Given the description of an element on the screen output the (x, y) to click on. 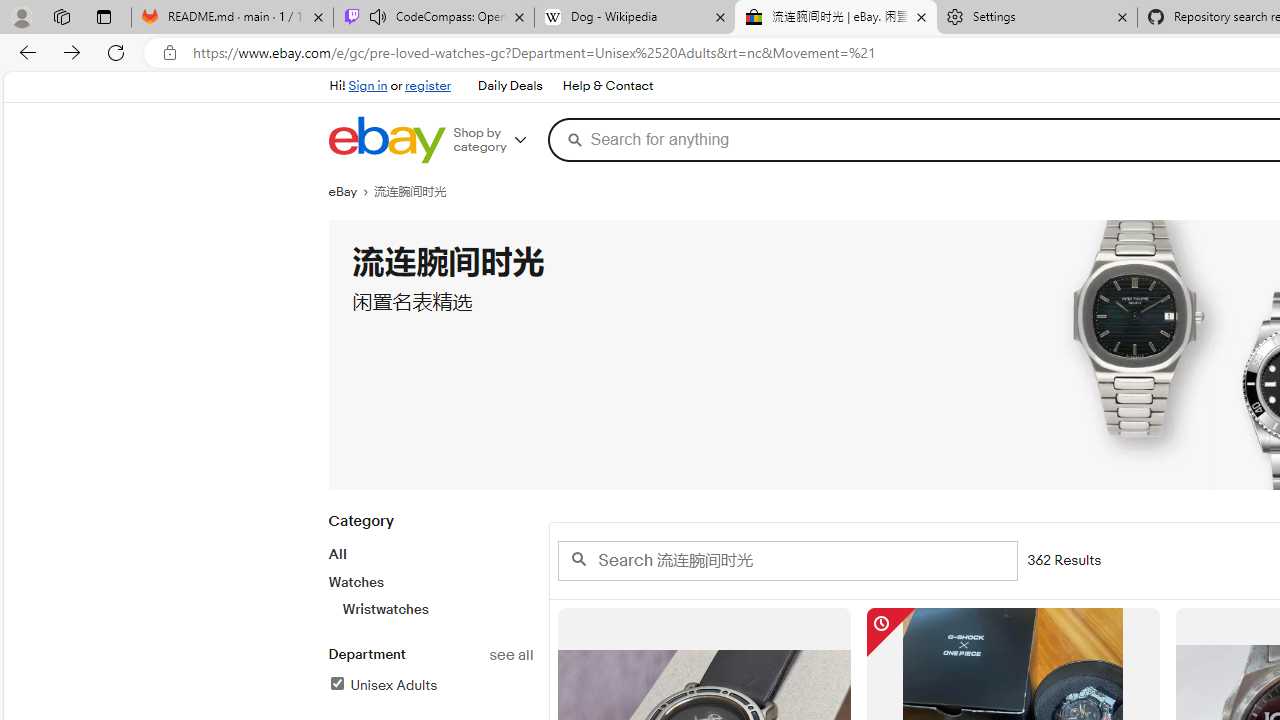
Daily Deals (509, 85)
eBay Home (386, 139)
Enter your search keyword (786, 560)
CategoryAllWatchesWristwatches (430, 576)
Departmentsee allUnisex AdultsFilter Applied (430, 681)
Unisex Adults Filter Applied (381, 685)
Wristwatches (437, 609)
eBay Home (386, 139)
